Given the description of an element on the screen output the (x, y) to click on. 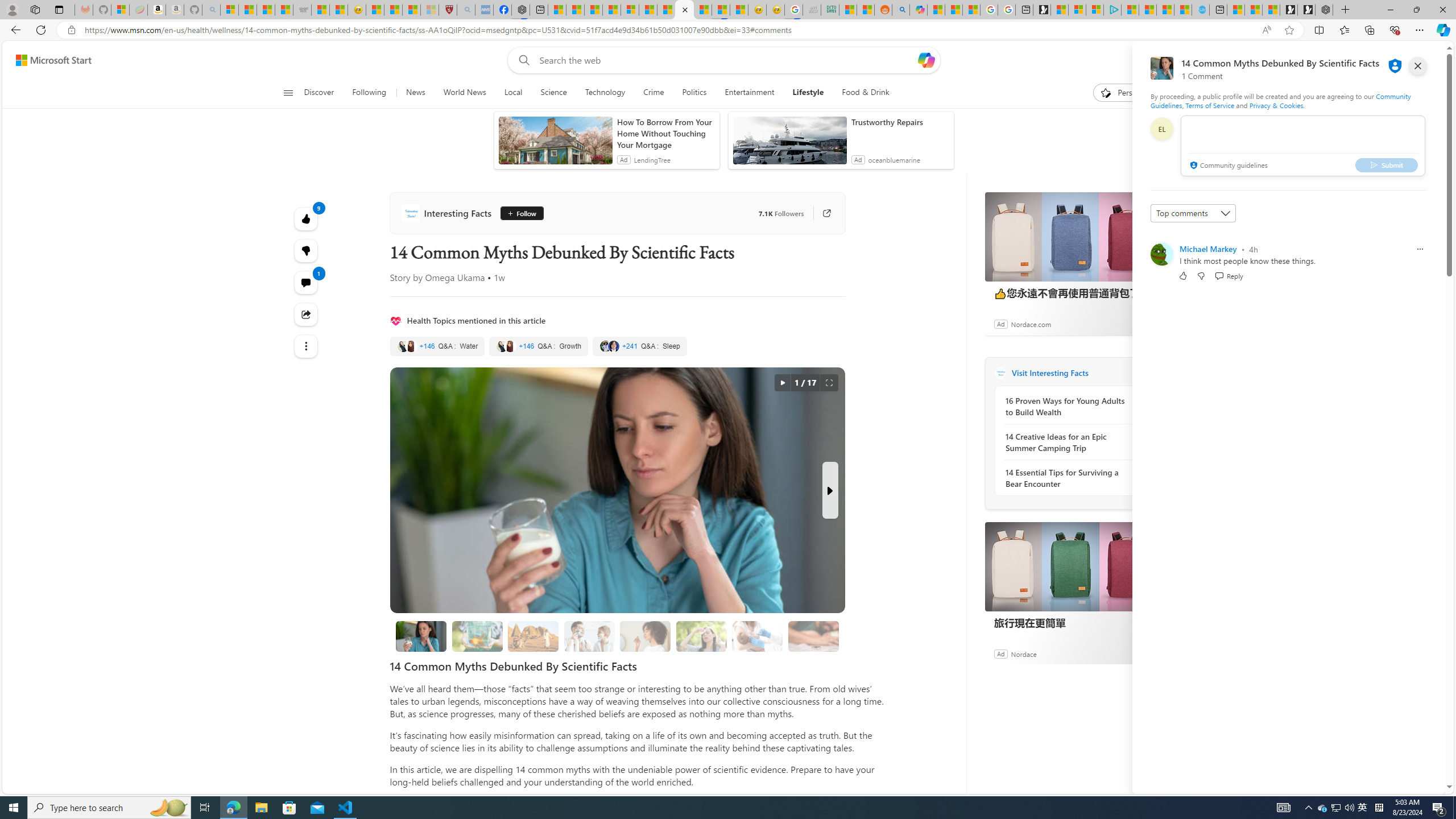
Visit Interesting Facts website (1140, 372)
Science - MSN (411, 9)
close (1417, 65)
14 Common Myths Debunked By Scientific Facts (421, 636)
Open navigation menu (287, 92)
Lifestyle (808, 92)
Local (512, 92)
Trustworthy Repairs (899, 121)
Class: progress (813, 633)
Technology (605, 92)
Next Slide (829, 489)
LendingTree (652, 159)
